Given the description of an element on the screen output the (x, y) to click on. 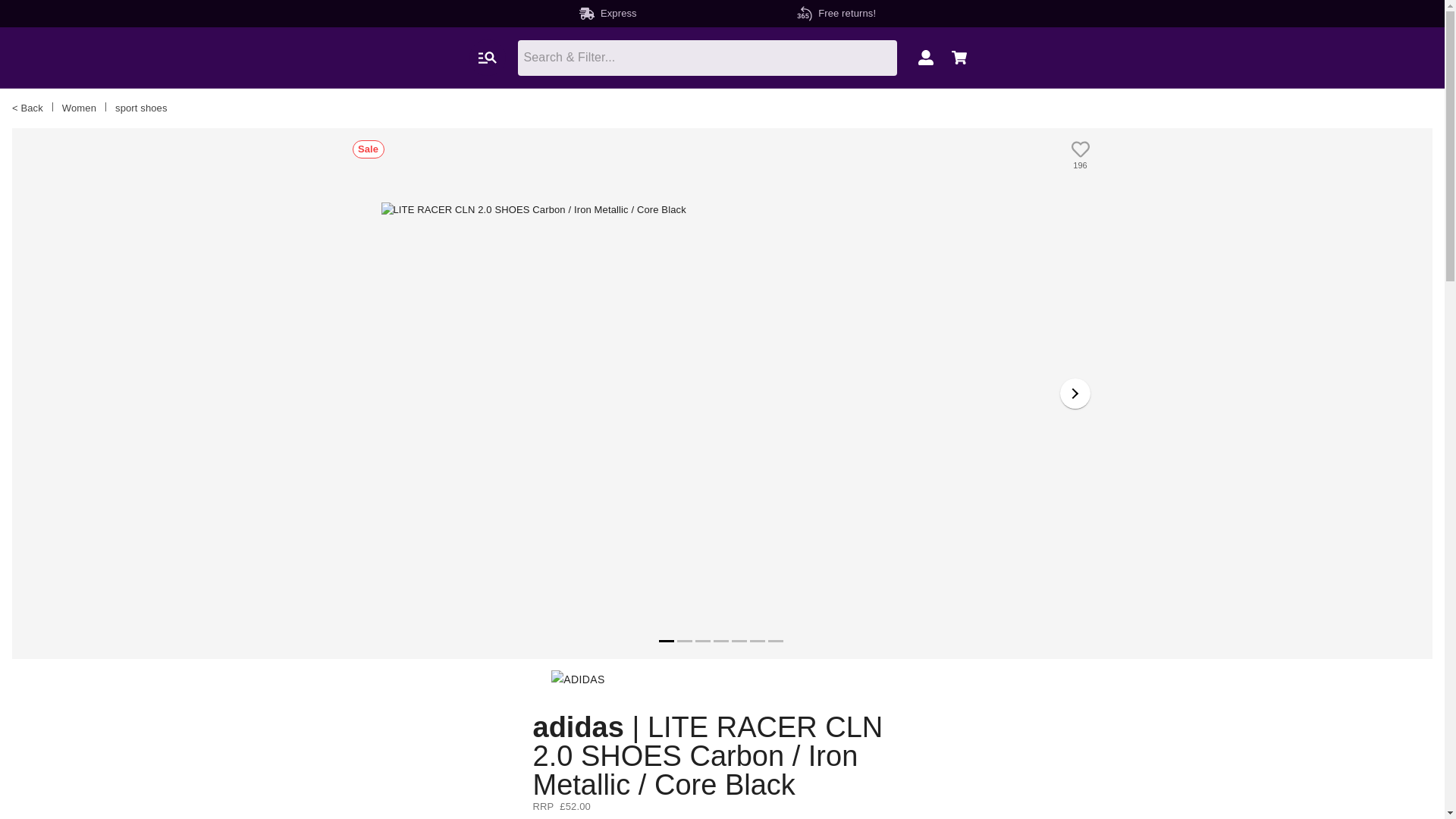
0 (925, 57)
sport shoes (141, 107)
Women (79, 107)
